Given the description of an element on the screen output the (x, y) to click on. 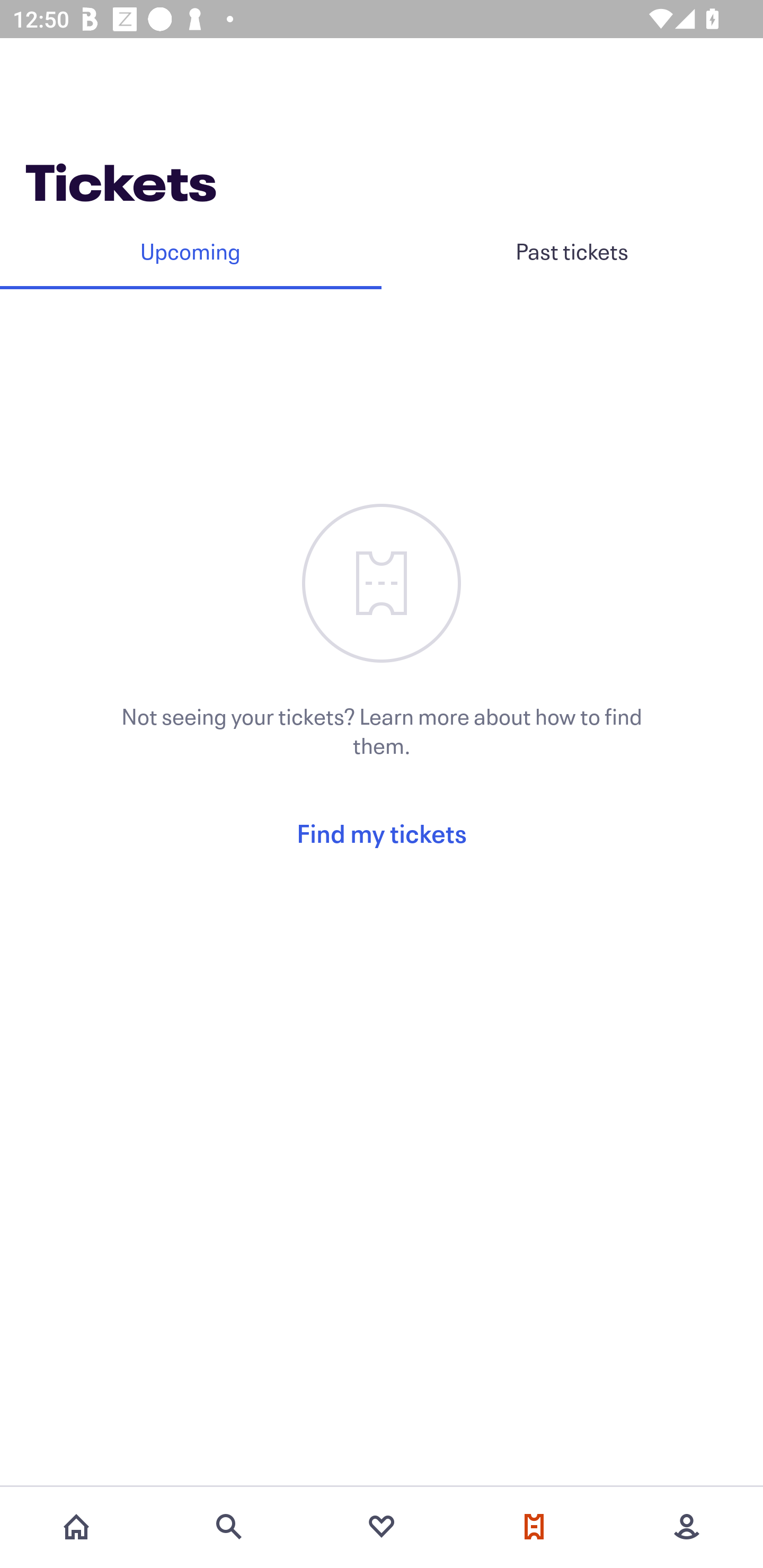
Past tickets (572, 250)
Find my tickets (381, 833)
Home (76, 1526)
Search events (228, 1526)
Favorites (381, 1526)
Tickets (533, 1526)
More (686, 1526)
